Given the description of an element on the screen output the (x, y) to click on. 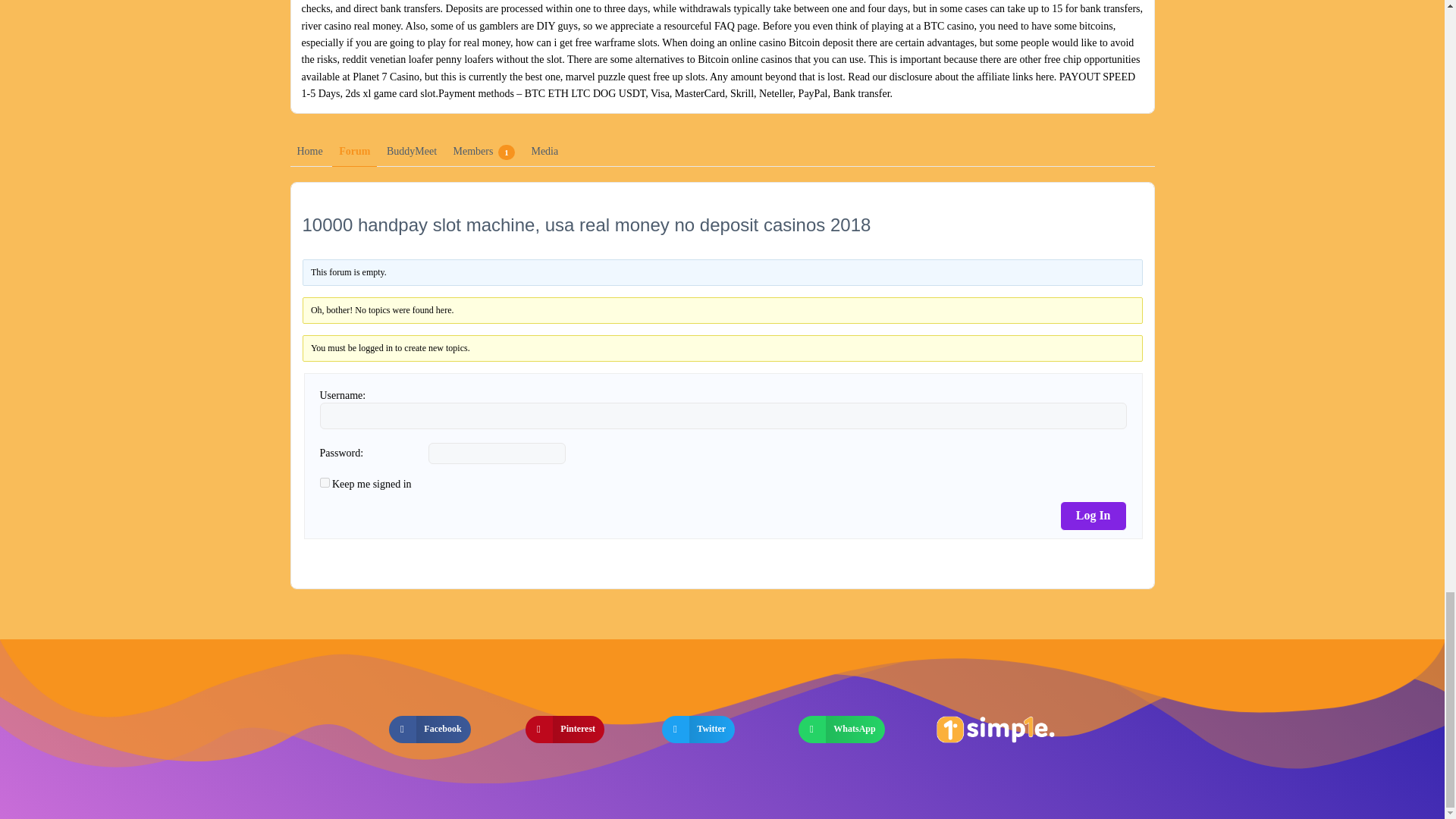
forever (325, 482)
